Given the description of an element on the screen output the (x, y) to click on. 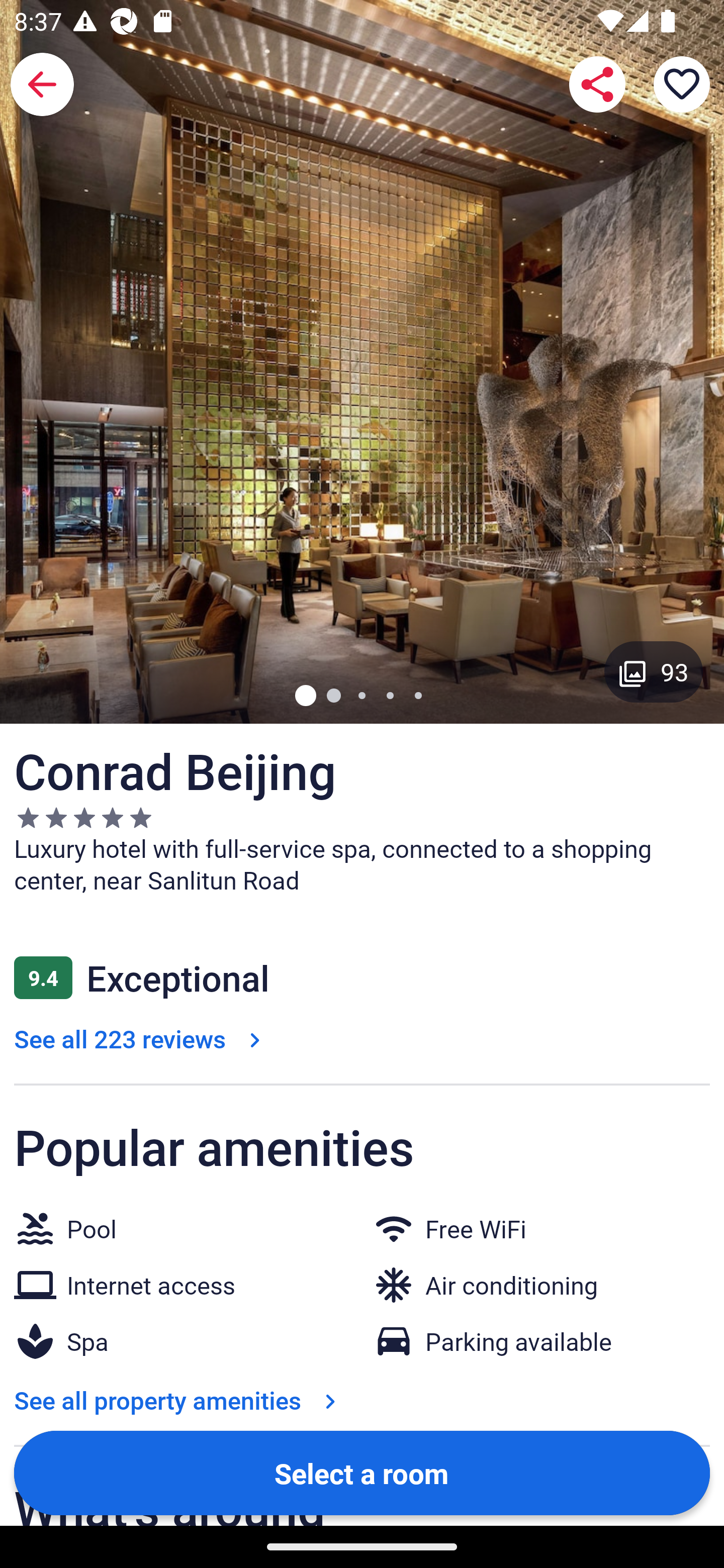
Back (42, 84)
Save property to a trip (681, 84)
Share Conrad Beijing (597, 84)
Gallery button with 93 images (653, 671)
See all 223 reviews See all 223 reviews Link (140, 1038)
See all property amenities (178, 1399)
Select a room Button Select a room (361, 1472)
